Given the description of an element on the screen output the (x, y) to click on. 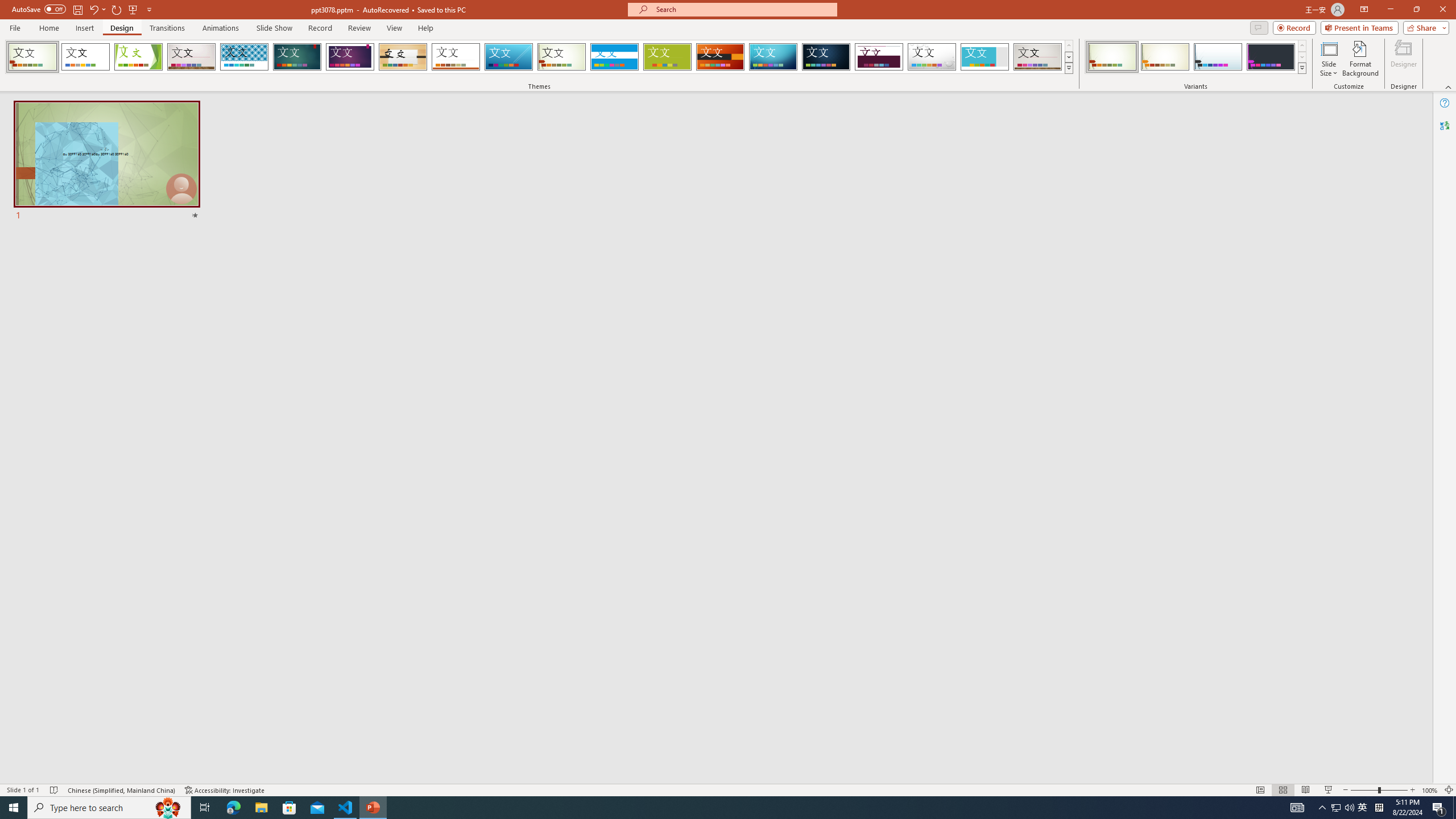
Designer (1403, 58)
AutomationID: SlideThemesGallery (539, 56)
Wisp Variant 1 (1112, 56)
Dividend (879, 56)
Microsoft search (742, 9)
Variants (1301, 67)
Ion Boardroom (350, 56)
